Given the description of an element on the screen output the (x, y) to click on. 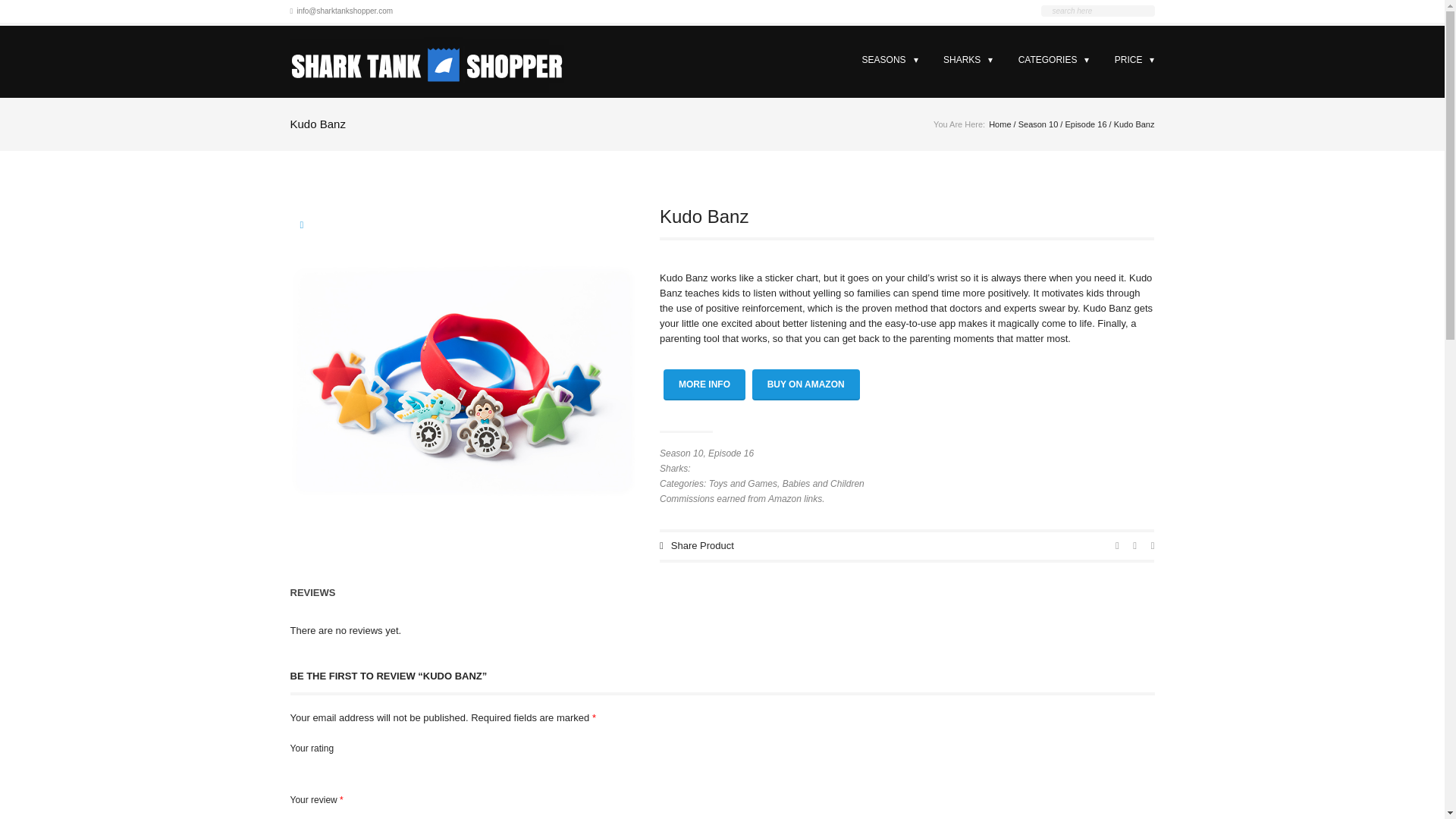
Kudo Banz (463, 381)
Shark Tank Shopper (426, 61)
Skip to primary content (913, 60)
SKIP TO SECONDARY CONTENT (921, 60)
Skip to secondary content (921, 60)
SKIP TO PRIMARY CONTENT (913, 60)
